Given the description of an element on the screen output the (x, y) to click on. 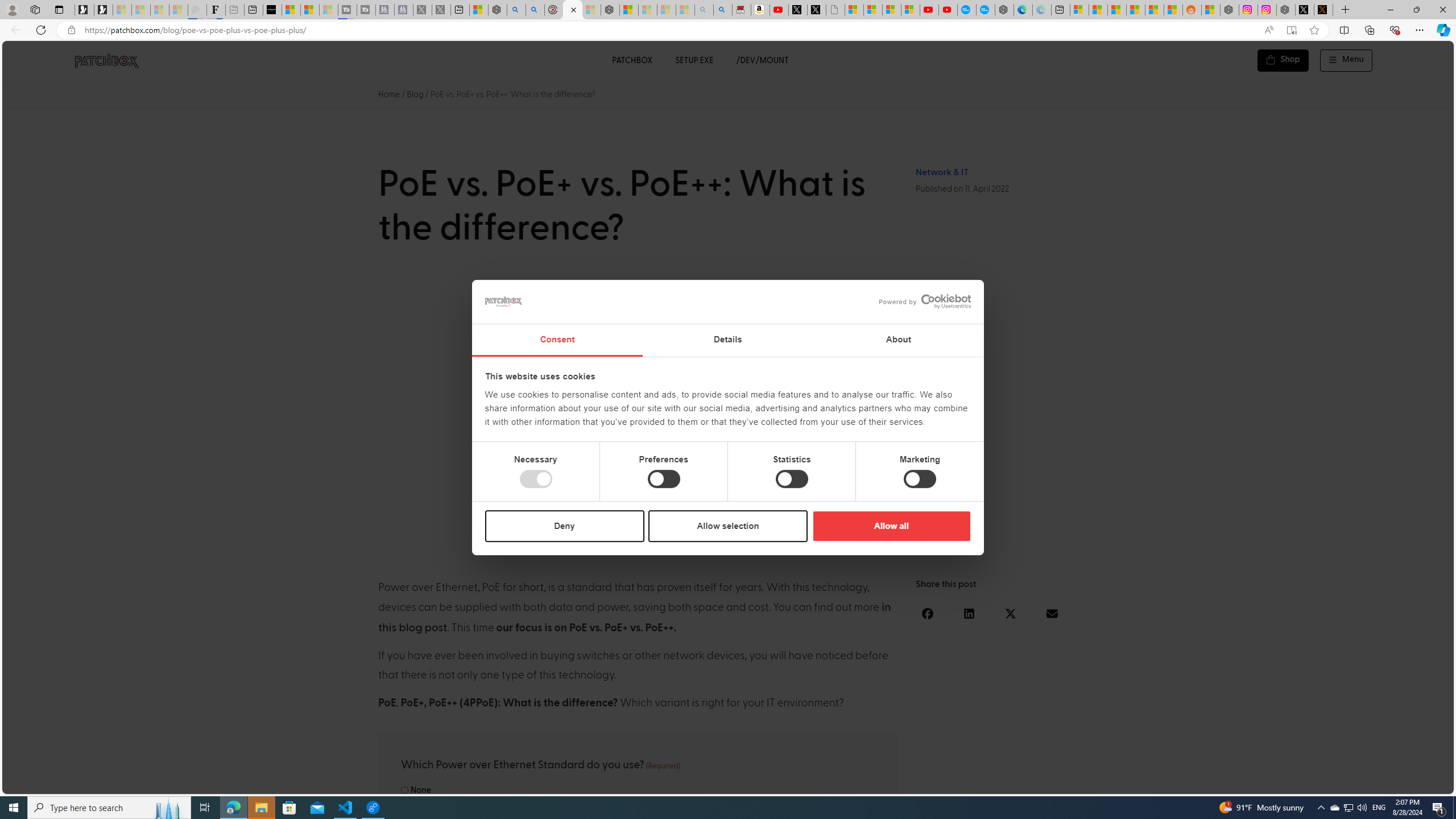
/DEV/MOUNT (762, 60)
PATCHBOX (631, 60)
Consent (556, 340)
Necessary (535, 479)
Enter Immersive Reader (F9) (1291, 29)
